Given the description of an element on the screen output the (x, y) to click on. 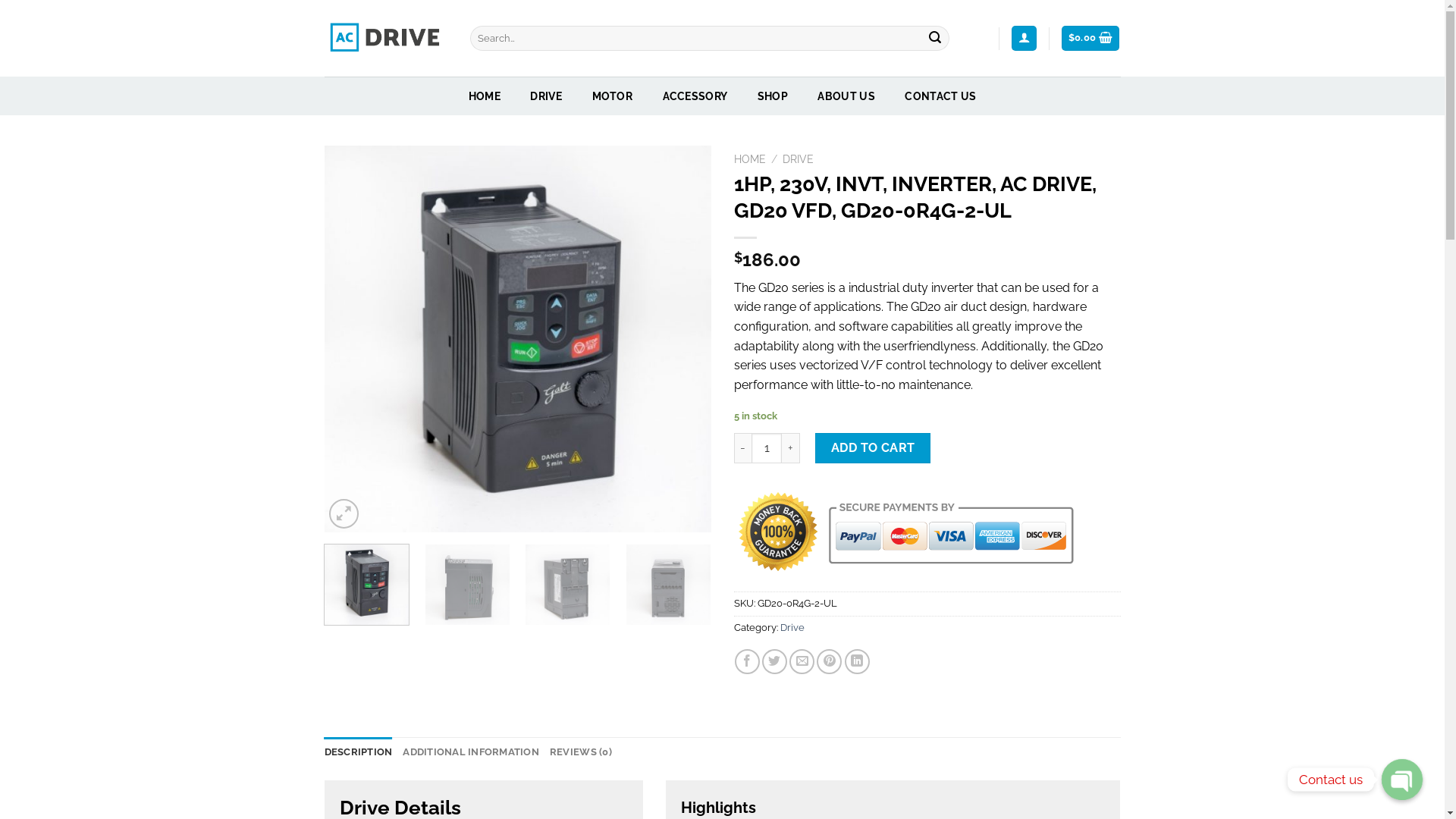
GD20A1 Element type: hover (517, 338)
REVIEWS (0) Element type: text (580, 752)
DRIVE Element type: text (546, 95)
Search Element type: text (934, 38)
DESCRIPTION Element type: text (358, 752)
SHOP Element type: text (772, 95)
CONTACT US Element type: text (940, 95)
acDRIVE - Online Store Element type: hover (385, 38)
ADD TO CART Element type: text (872, 448)
MOTOR Element type: text (611, 95)
ACCESSORY Element type: text (694, 95)
HOME Element type: text (749, 159)
Drive Element type: text (791, 627)
DRIVE Element type: text (797, 159)
Qty Element type: hover (766, 448)
ABOUT US Element type: text (846, 95)
HOME Element type: text (484, 95)
$0.00 Element type: text (1090, 37)
ADDITIONAL INFORMATION Element type: text (470, 752)
